Given the description of an element on the screen output the (x, y) to click on. 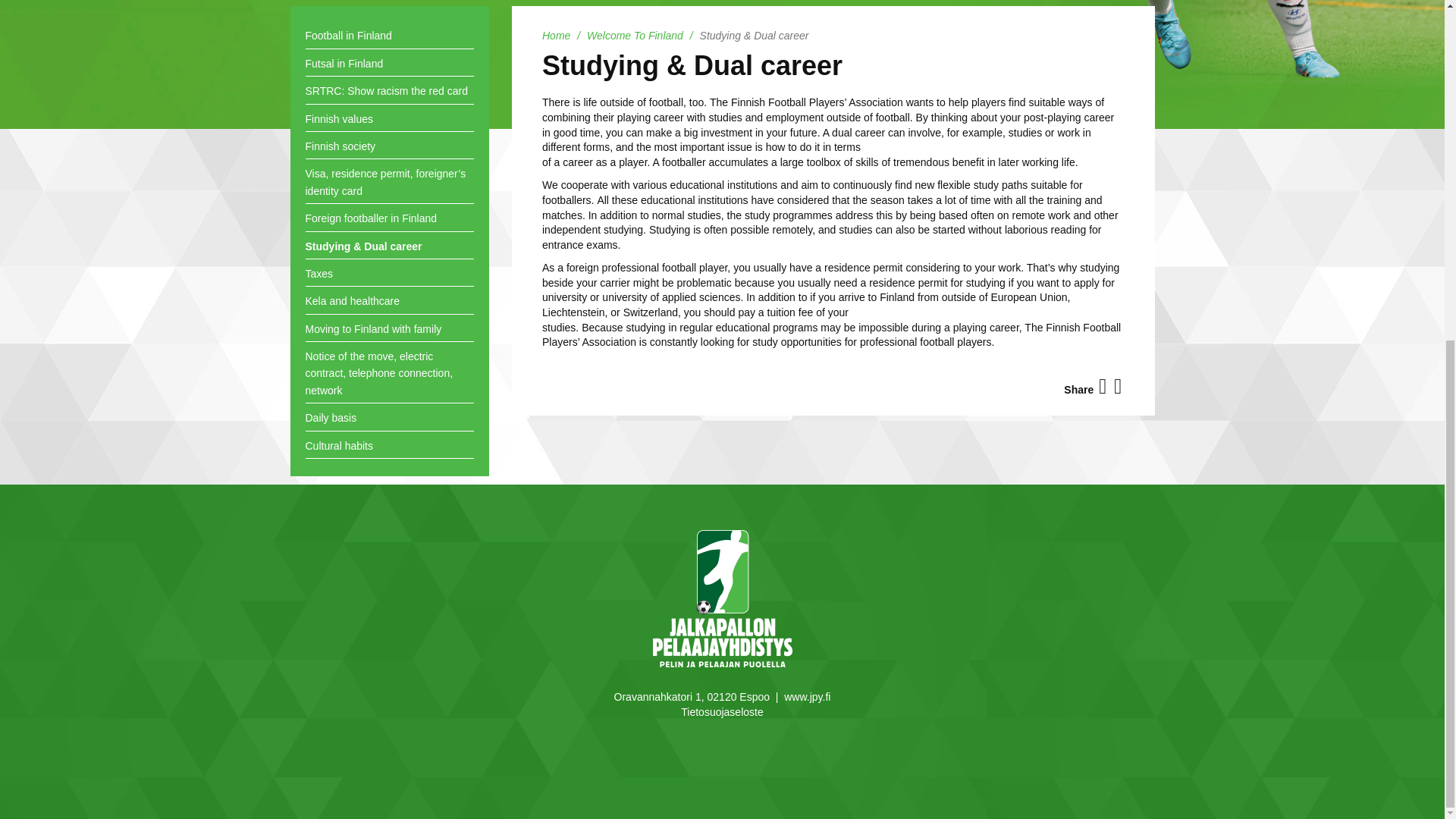
tietosuojaseloste (721, 711)
